Given the description of an element on the screen output the (x, y) to click on. 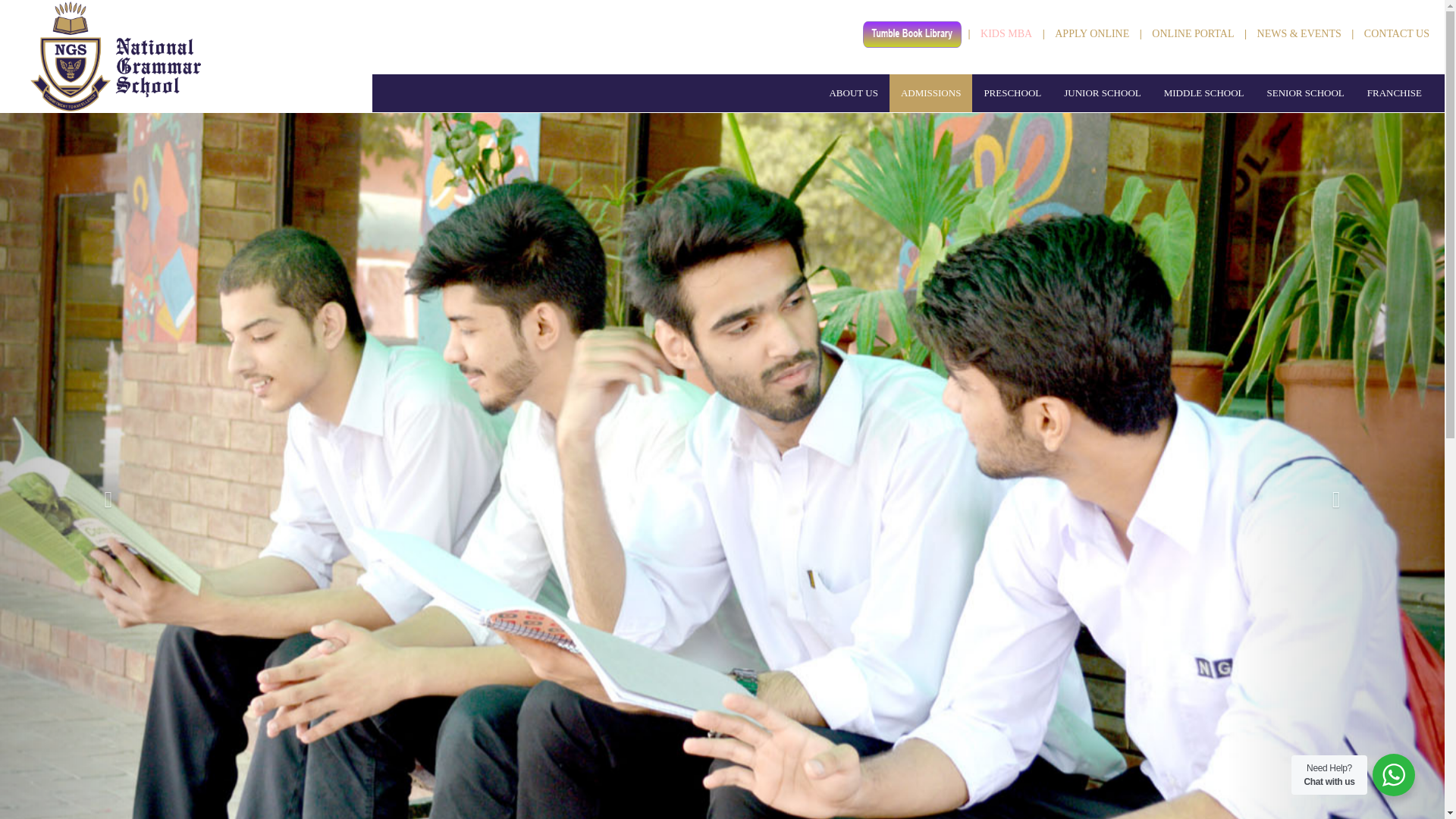
CONTACT US (1396, 33)
ABOUT US (852, 93)
JUNIOR SCHOOL (1101, 93)
ADMISSIONS (930, 93)
APPLY ONLINE (1091, 33)
KIDS MBA (1005, 33)
PRESCHOOL (1012, 93)
ONLINE PORTAL (1192, 33)
